Given the description of an element on the screen output the (x, y) to click on. 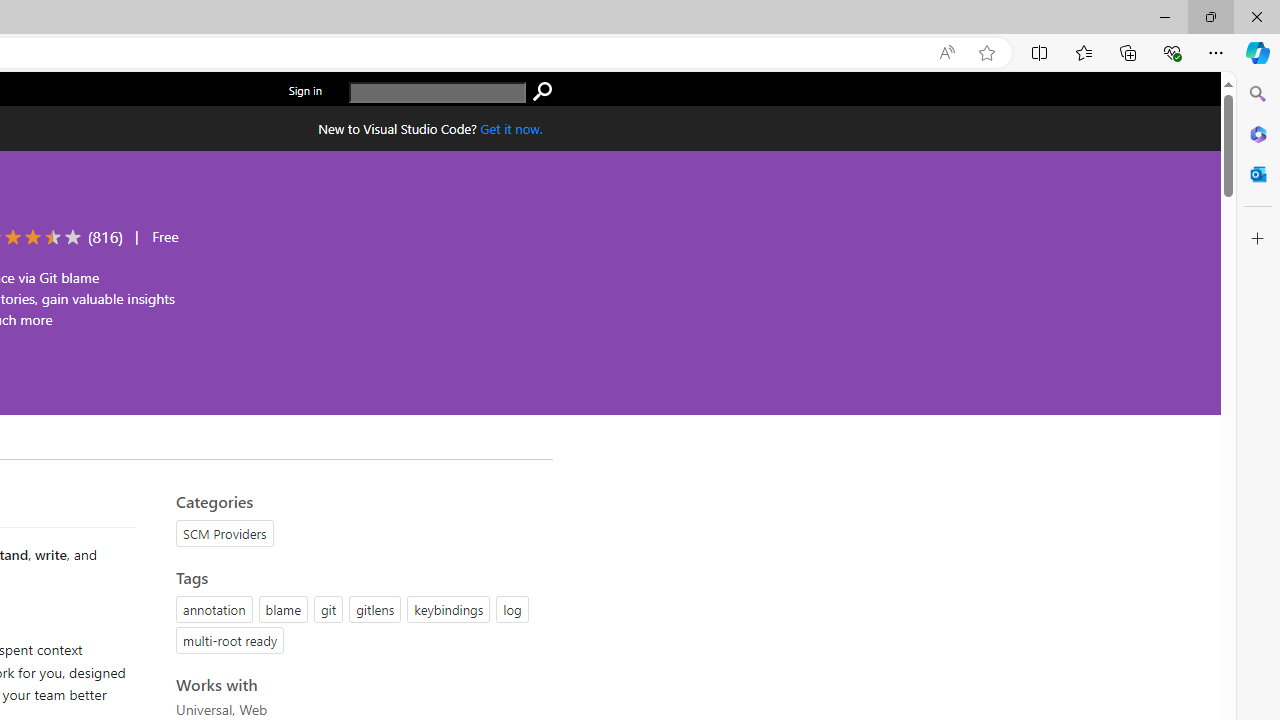
search (438, 92)
